Given the description of an element on the screen output the (x, y) to click on. 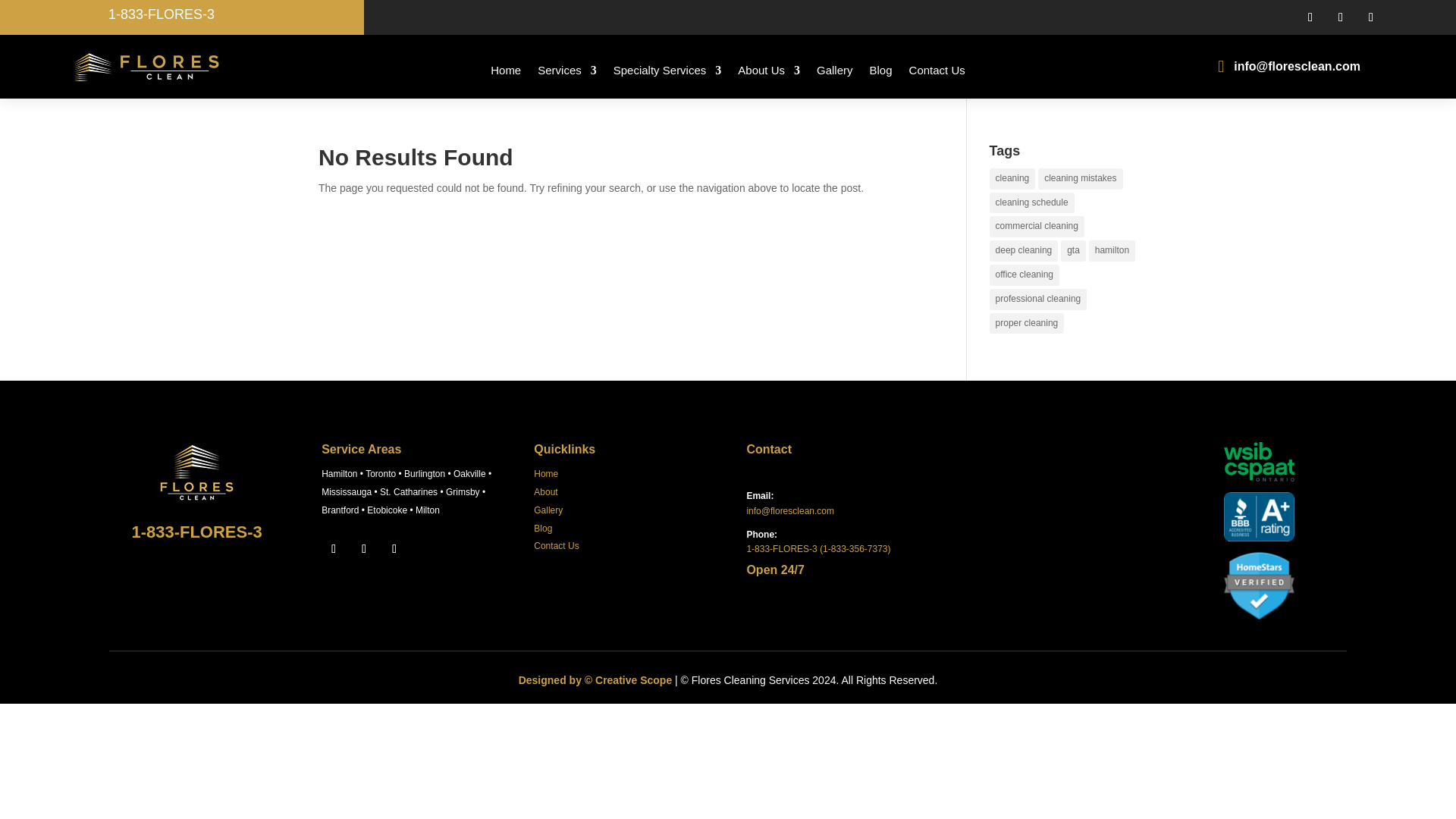
bbb2 (1259, 516)
home (1259, 585)
Follow on Facebook (1310, 16)
Follow on Facebook (333, 549)
Follow on Instagram (1339, 16)
Specialty Services (667, 70)
logo (148, 66)
Follow on Instagram (363, 549)
logo (196, 472)
Contact Us (936, 70)
